Given the description of an element on the screen output the (x, y) to click on. 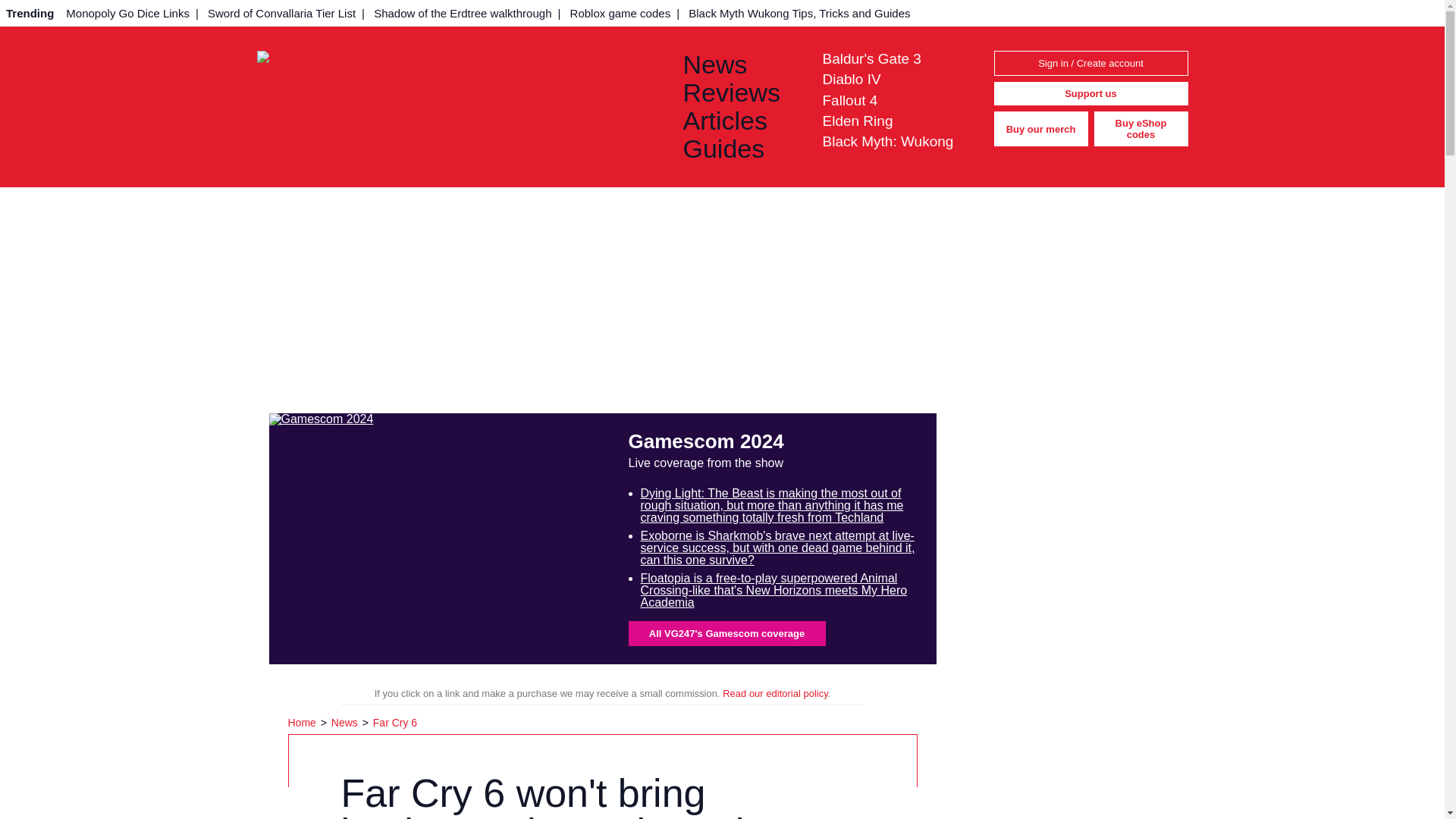
Fallout 4 (849, 100)
Guides (739, 148)
News (739, 64)
All VG247's Gamescom coverage (726, 633)
News (346, 722)
Reviews (739, 92)
Articles (739, 121)
Buy eShop codes (1140, 128)
Diablo IV (851, 78)
Sword of Convallaria Tier List (281, 13)
